Given the description of an element on the screen output the (x, y) to click on. 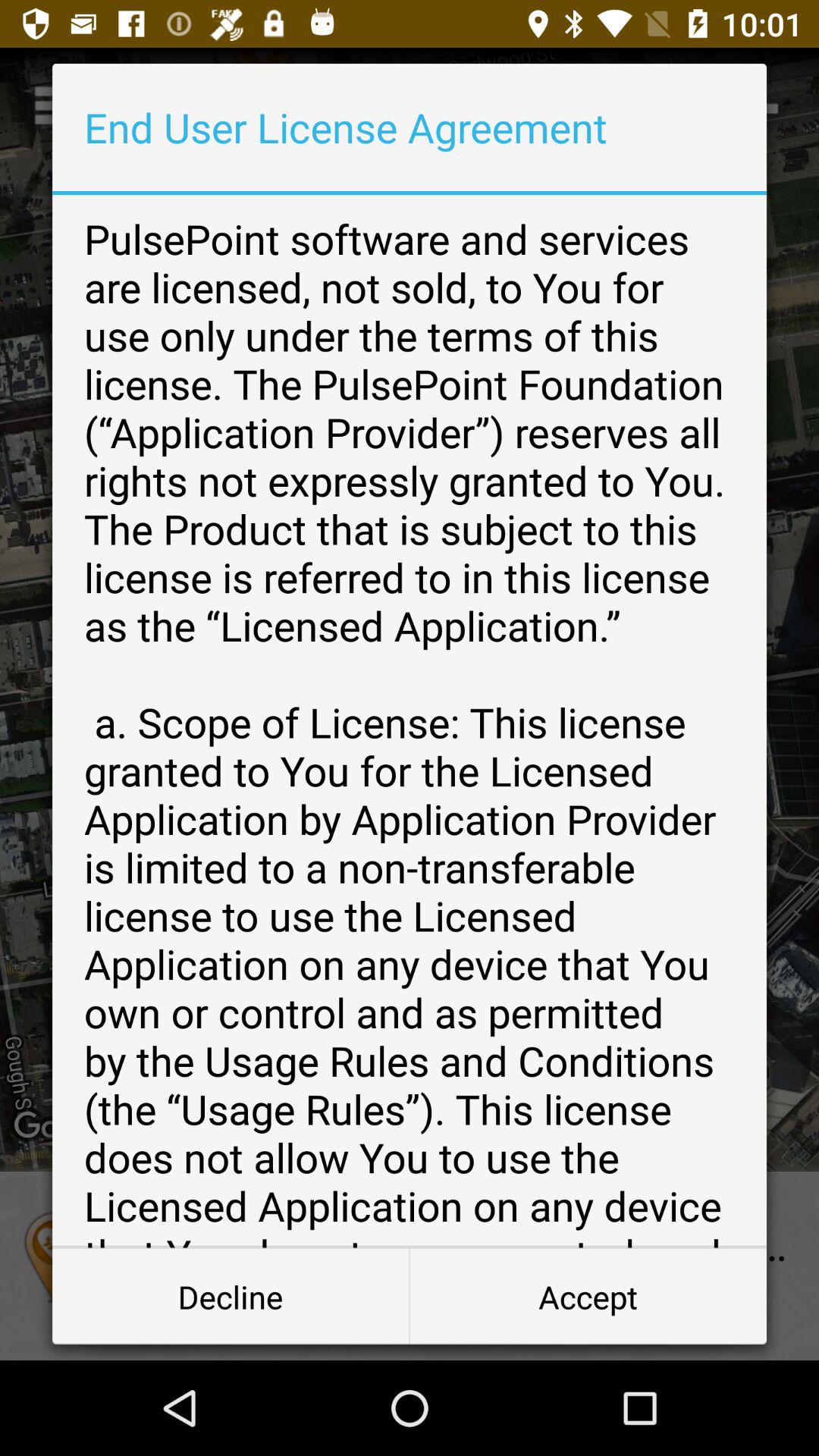
turn off the icon below pulsepoint software and app (588, 1296)
